Given the description of an element on the screen output the (x, y) to click on. 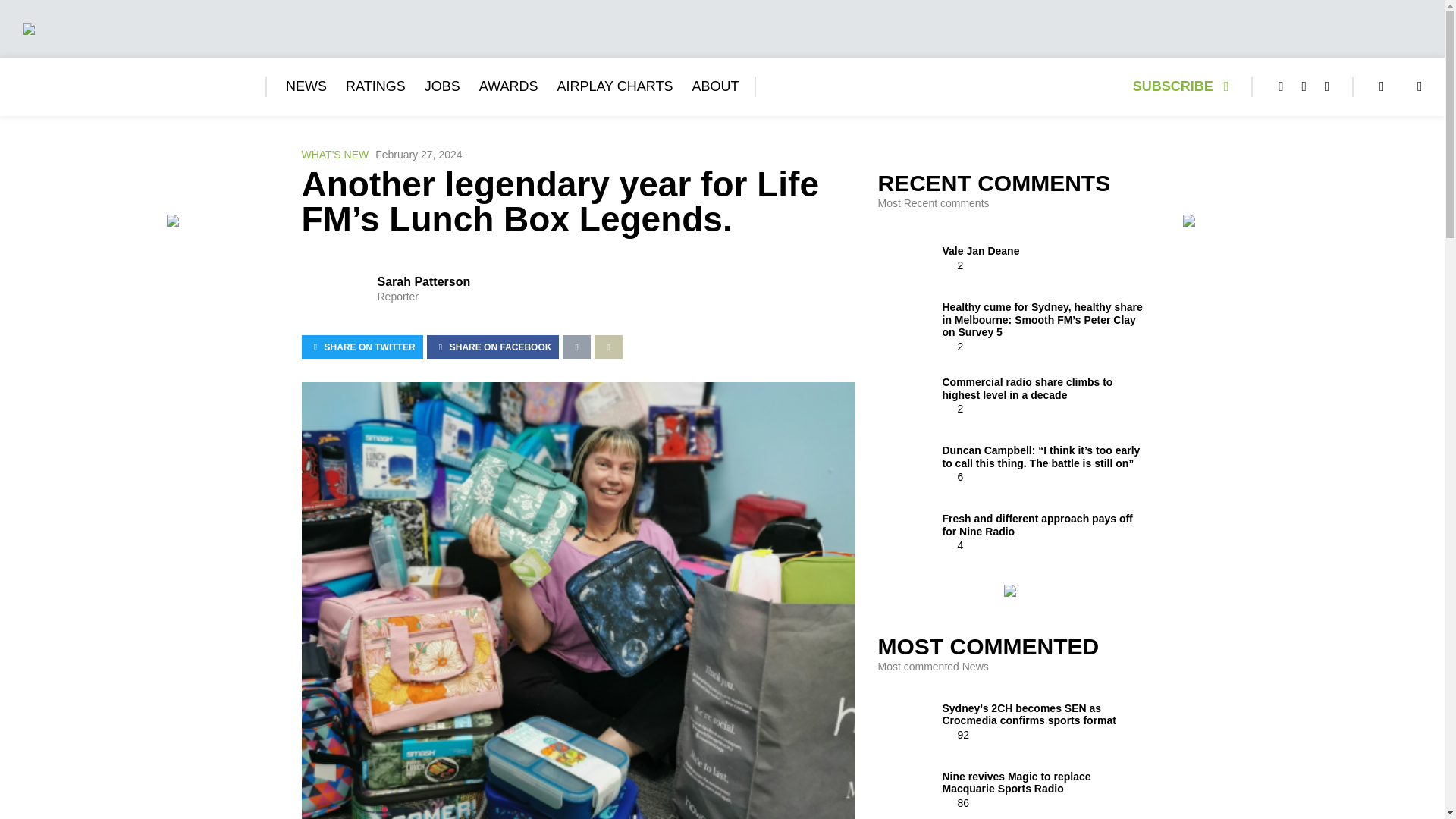
SUBSCRIBE (1184, 86)
Close (1427, 16)
AIRPLAY CHARTS (614, 86)
RATINGS (376, 86)
JOBS (442, 86)
ABOUT (714, 86)
SHARE ON TWITTER (362, 346)
WHAT'S NEW (335, 154)
AWARDS (508, 86)
NEWS (305, 86)
